Given the description of an element on the screen output the (x, y) to click on. 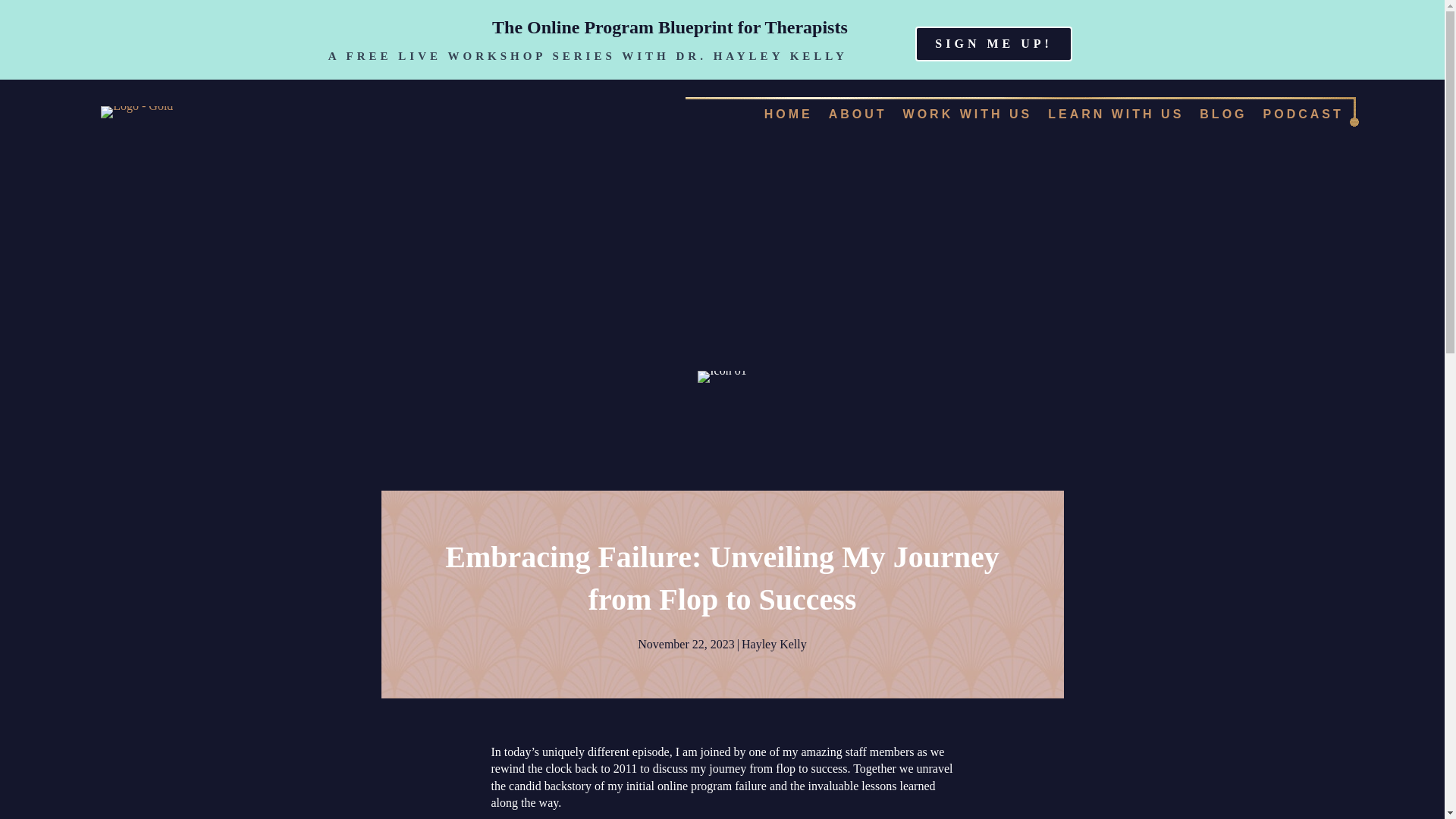
PODCAST (1303, 113)
Hayley Kelly (773, 644)
LEARN WITH US (1116, 113)
Icon o1 (721, 377)
ABOUT (858, 113)
BLOG (1222, 113)
WORK WITH US (968, 113)
SIGN ME UP! (993, 43)
HOME (789, 113)
Logo - Gold (136, 111)
